Given the description of an element on the screen output the (x, y) to click on. 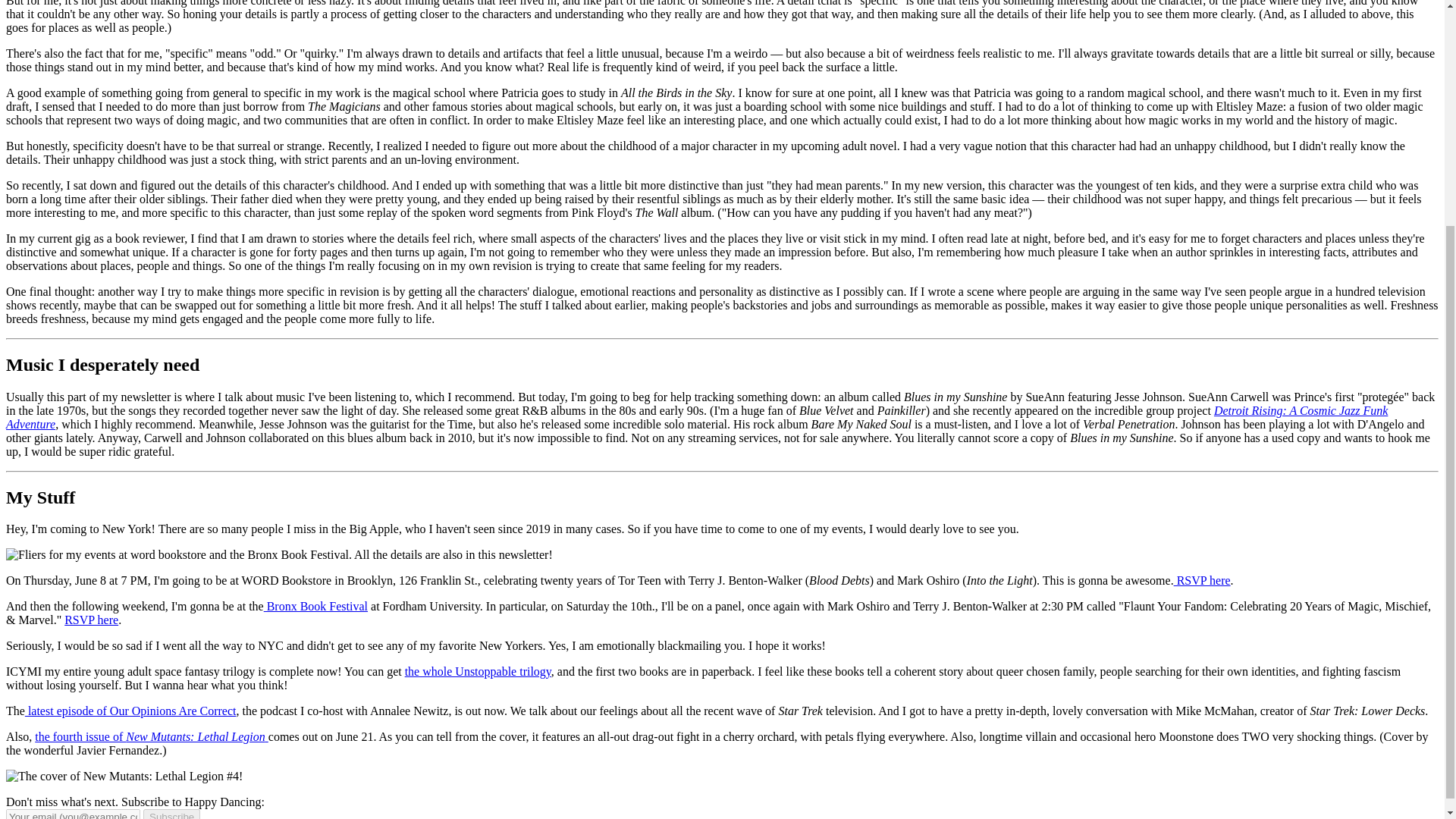
the fourth issue of New Mutants: Lethal Legion (150, 736)
Bronx Book Festival (315, 605)
RSVP here (1201, 580)
RSVP here (90, 619)
Detroit Rising: A Cosmic Jazz Funk Adventure (696, 417)
the whole Unstoppable trilogy (477, 671)
latest episode of Our Opinions Are Correct (129, 710)
